Given the description of an element on the screen output the (x, y) to click on. 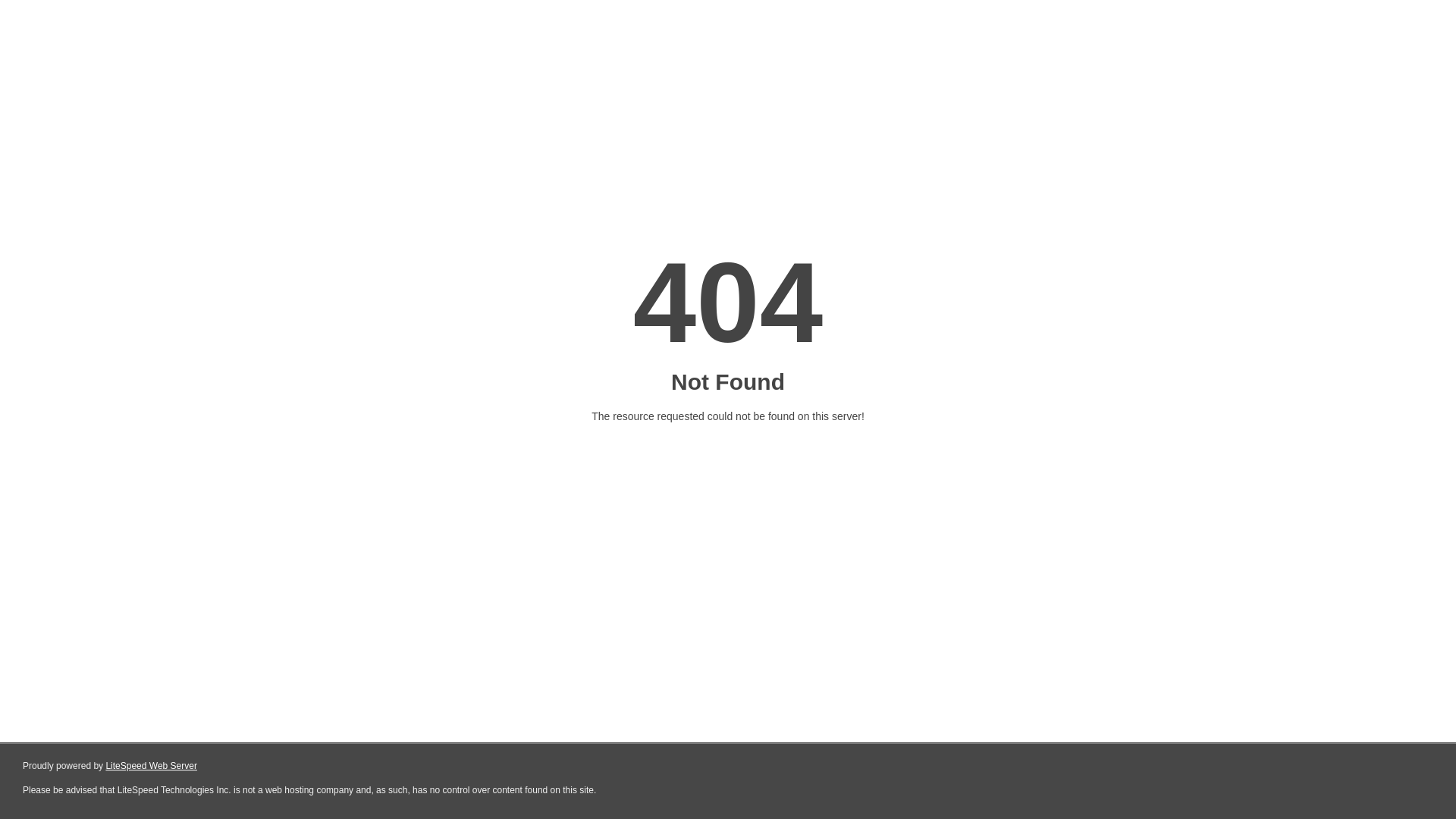
LiteSpeed Web Server Element type: text (151, 765)
